Given the description of an element on the screen output the (x, y) to click on. 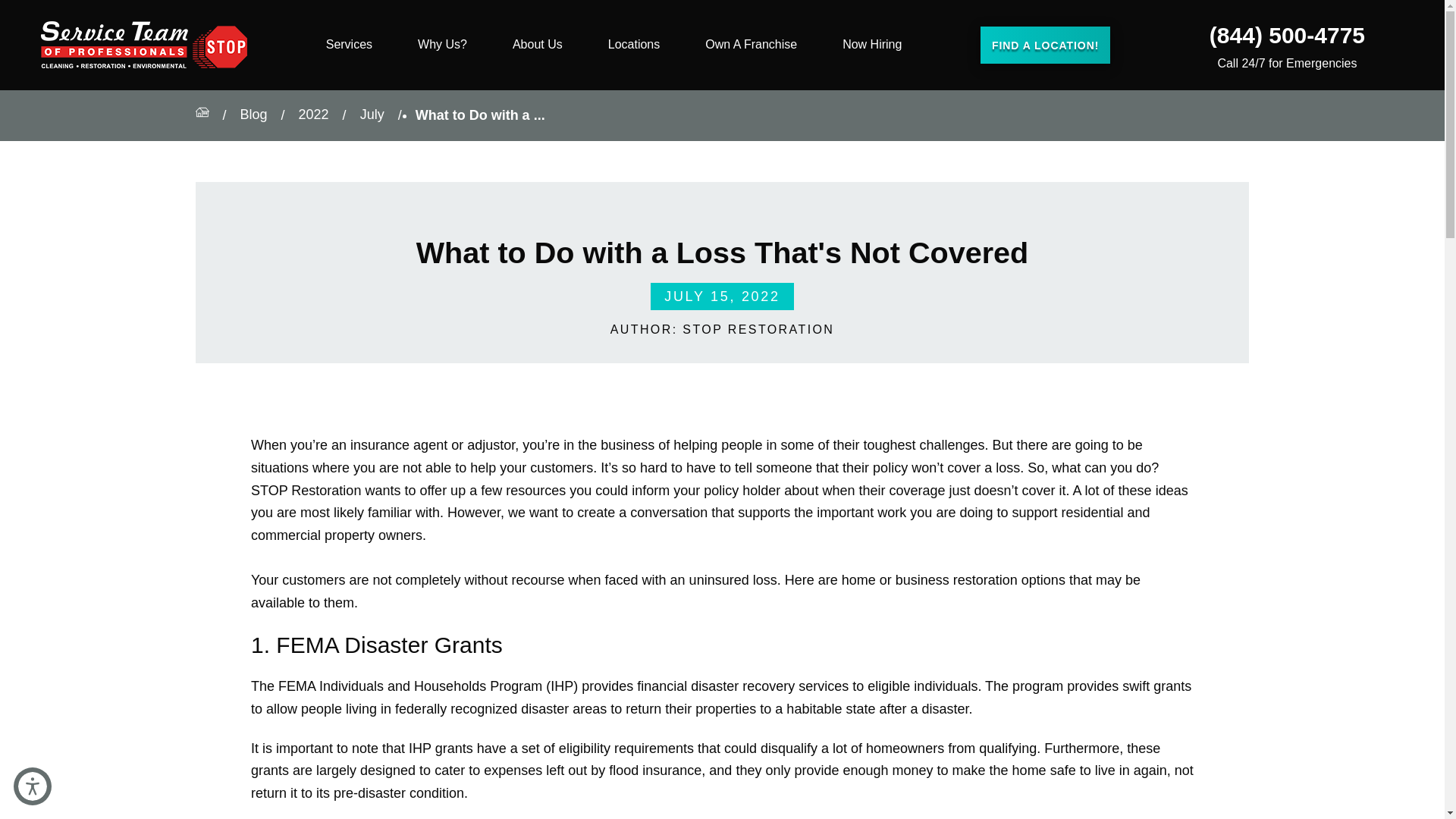
STOP Restoration (143, 44)
Open the accessibility options menu (31, 786)
Services (349, 44)
Blog (253, 115)
Now Hiring (872, 44)
About Us (537, 44)
Own A Franchise (750, 44)
Why Us? (442, 44)
Locations (634, 44)
FIND A LOCATION! (1044, 44)
